Given the description of an element on the screen output the (x, y) to click on. 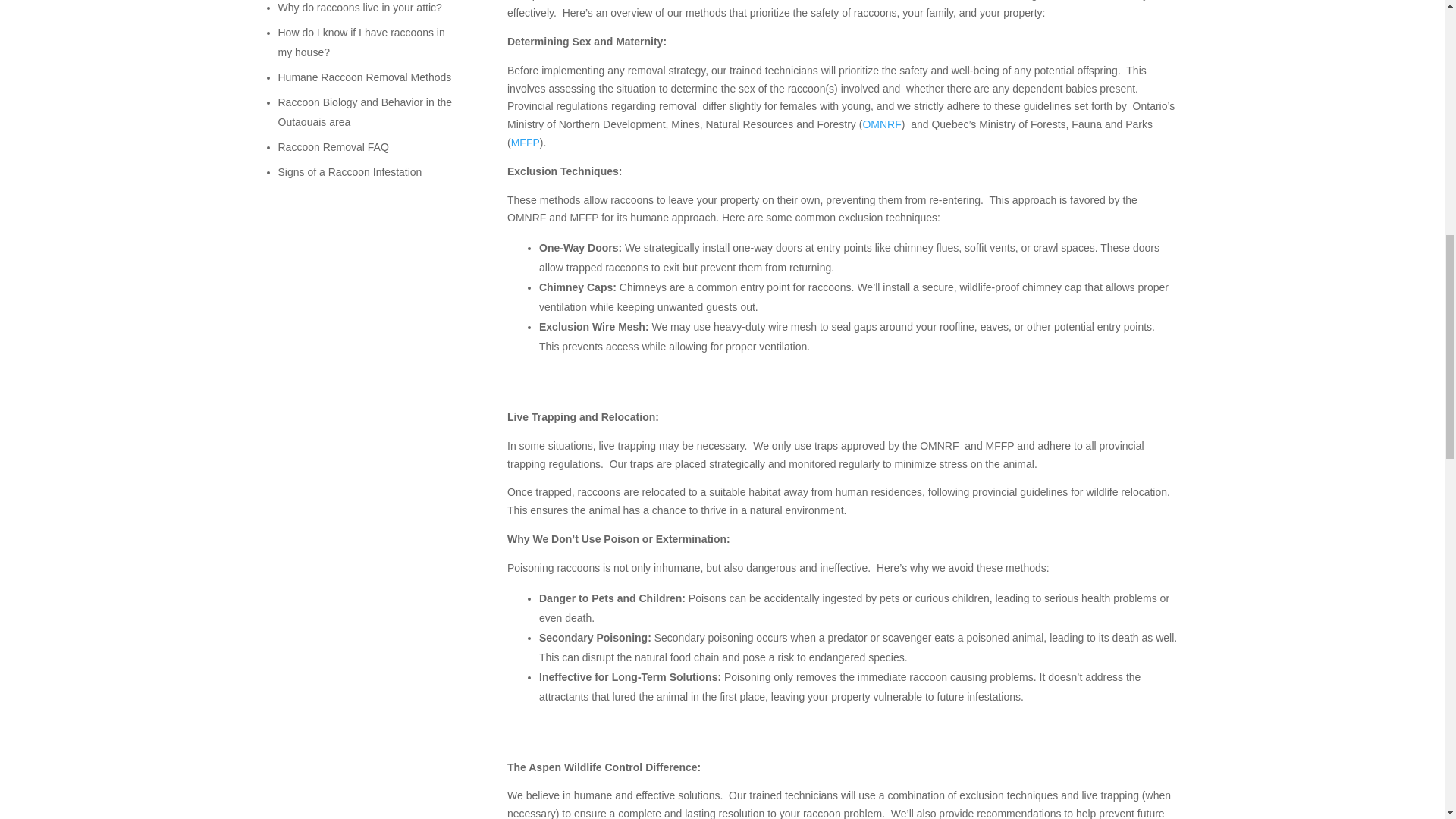
How do I know if I have raccoons in my house? (361, 42)
Why do raccoons live in your attic? (359, 7)
Humane Raccoon Removal Methods (364, 77)
